Given the description of an element on the screen output the (x, y) to click on. 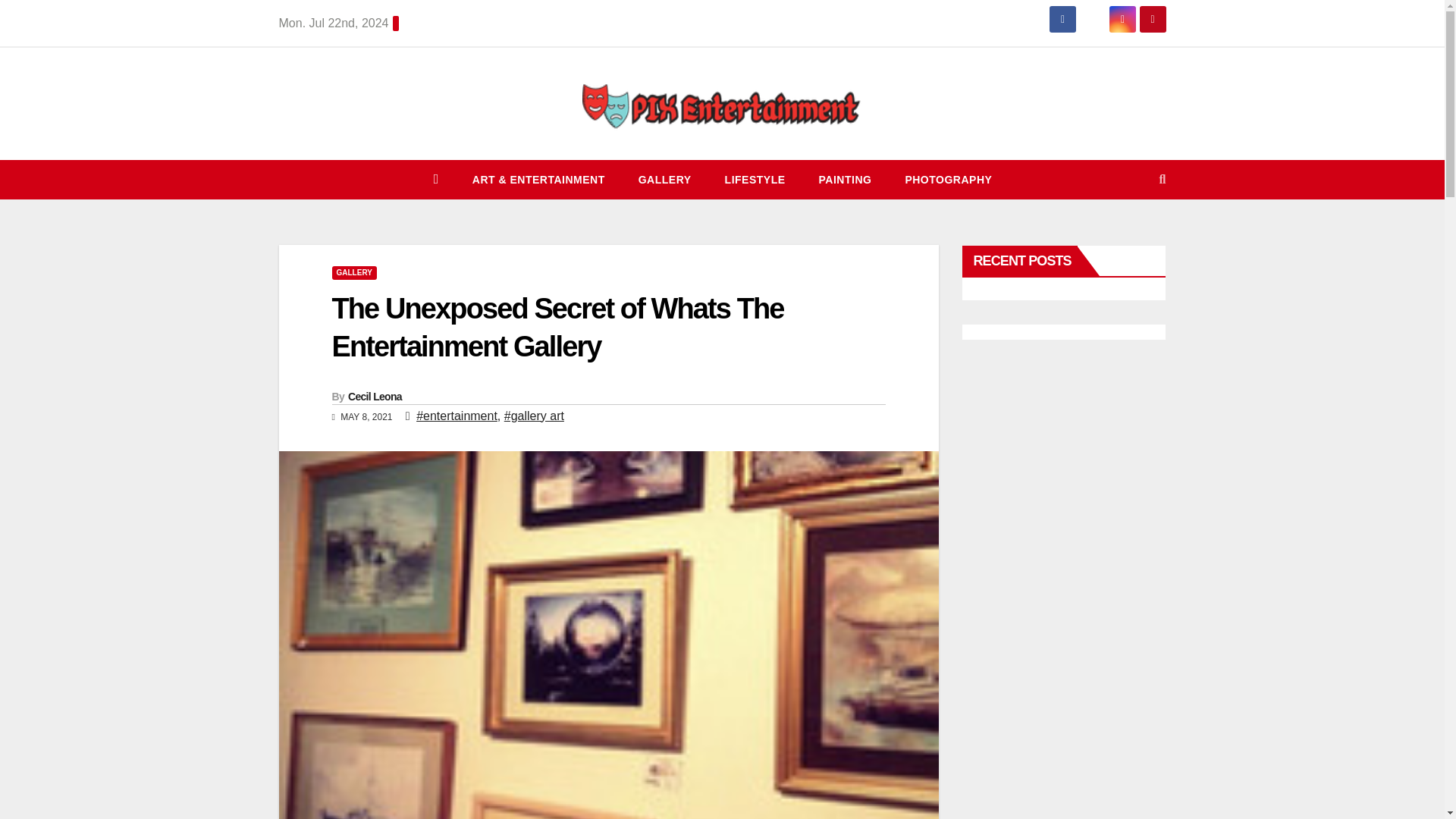
Cecil Leona (374, 396)
PHOTOGRAPHY (948, 179)
LIFESTYLE (754, 179)
PAINTING (845, 179)
GALLERY (354, 273)
Painting (845, 179)
Gallery (664, 179)
The Unexposed Secret of Whats The Entertainment Gallery (557, 326)
Photography (948, 179)
Lifestyle (754, 179)
GALLERY (664, 179)
